Given the description of an element on the screen output the (x, y) to click on. 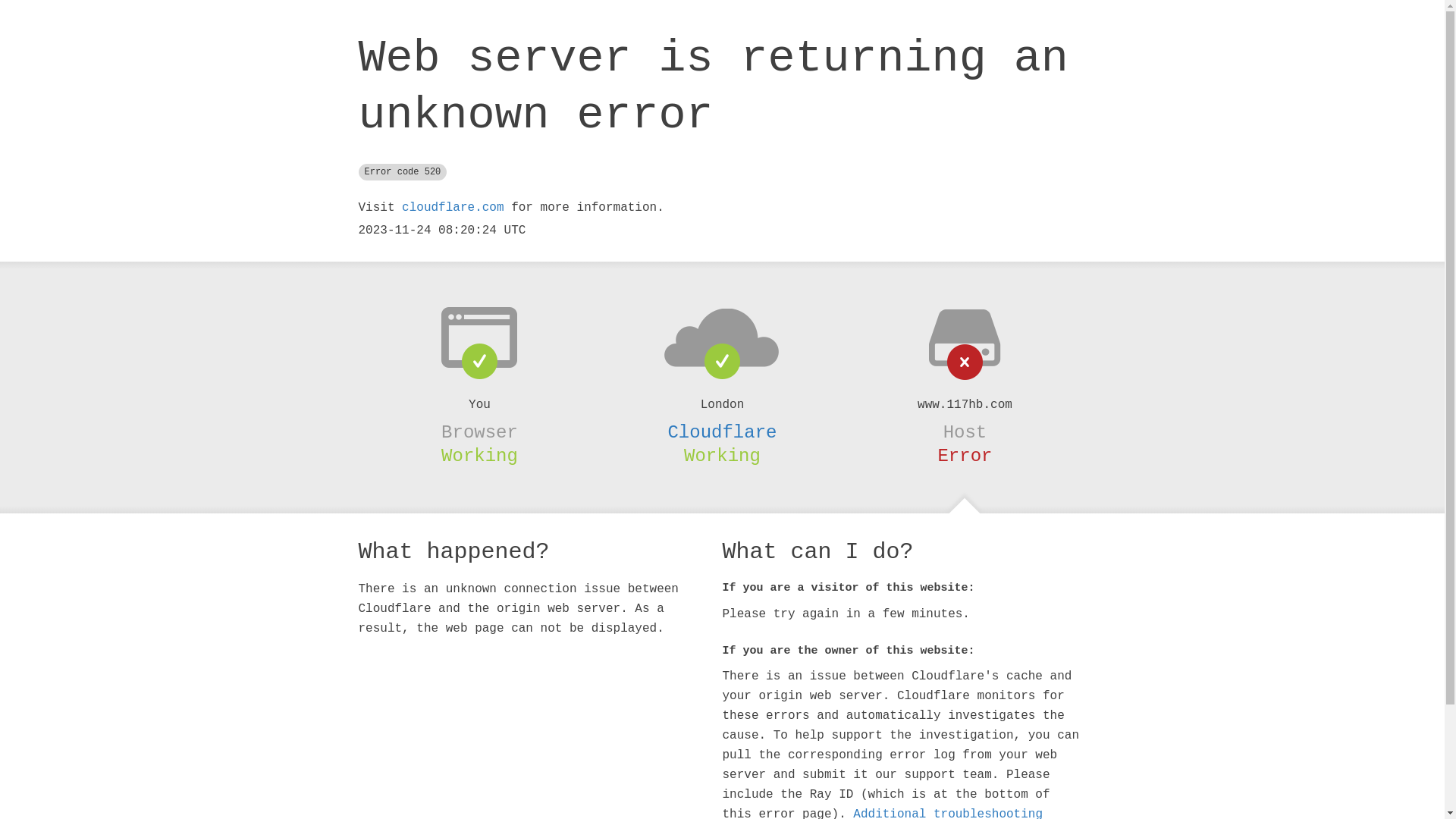
Cloudflare Element type: text (721, 432)
cloudflare.com Element type: text (452, 207)
